Given the description of an element on the screen output the (x, y) to click on. 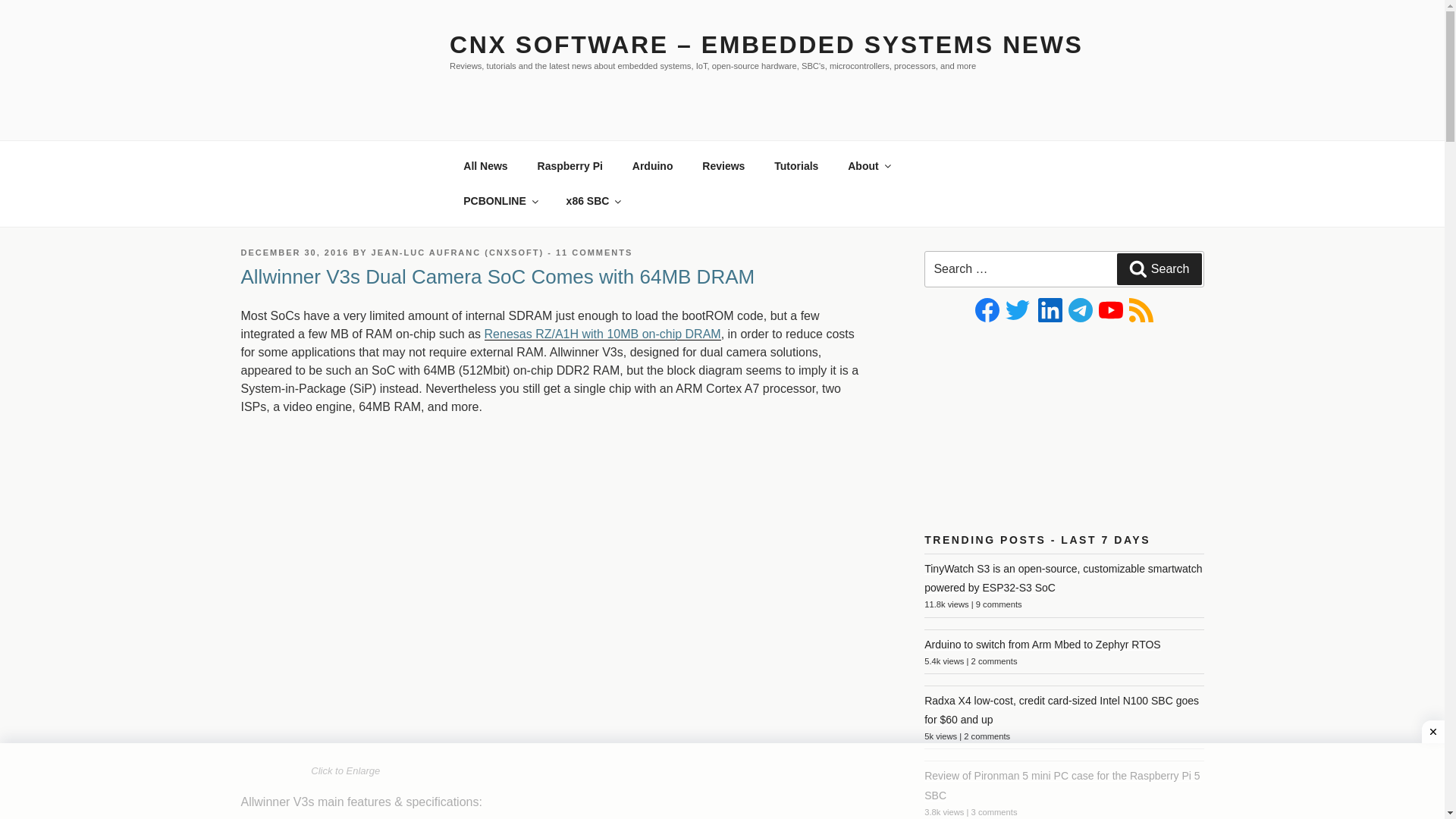
All News (485, 165)
x86 SBC (593, 200)
Reviews (723, 165)
Tutorials (796, 165)
About (868, 165)
PCBONLINE (499, 200)
Purchase PCBs from our sponsor (499, 200)
Raspberry Pi (569, 165)
